Given the description of an element on the screen output the (x, y) to click on. 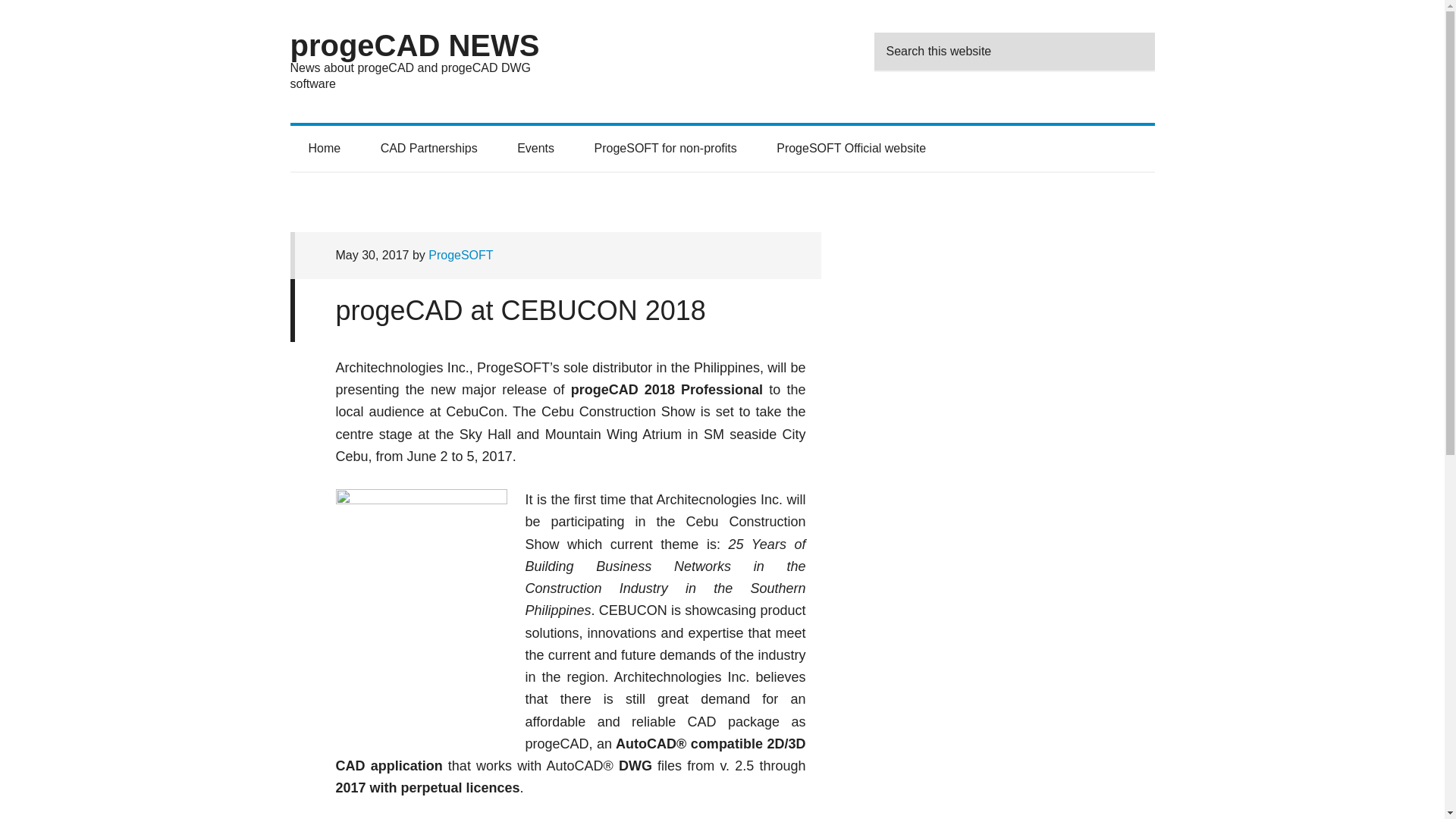
ProgeSOFT for non-profits (665, 148)
progeCAD NEWS (413, 45)
Events (535, 148)
ProgeSOFT (460, 254)
Home (323, 148)
ProgeSOFT Official website (850, 148)
CAD Partnerships (429, 148)
